Given the description of an element on the screen output the (x, y) to click on. 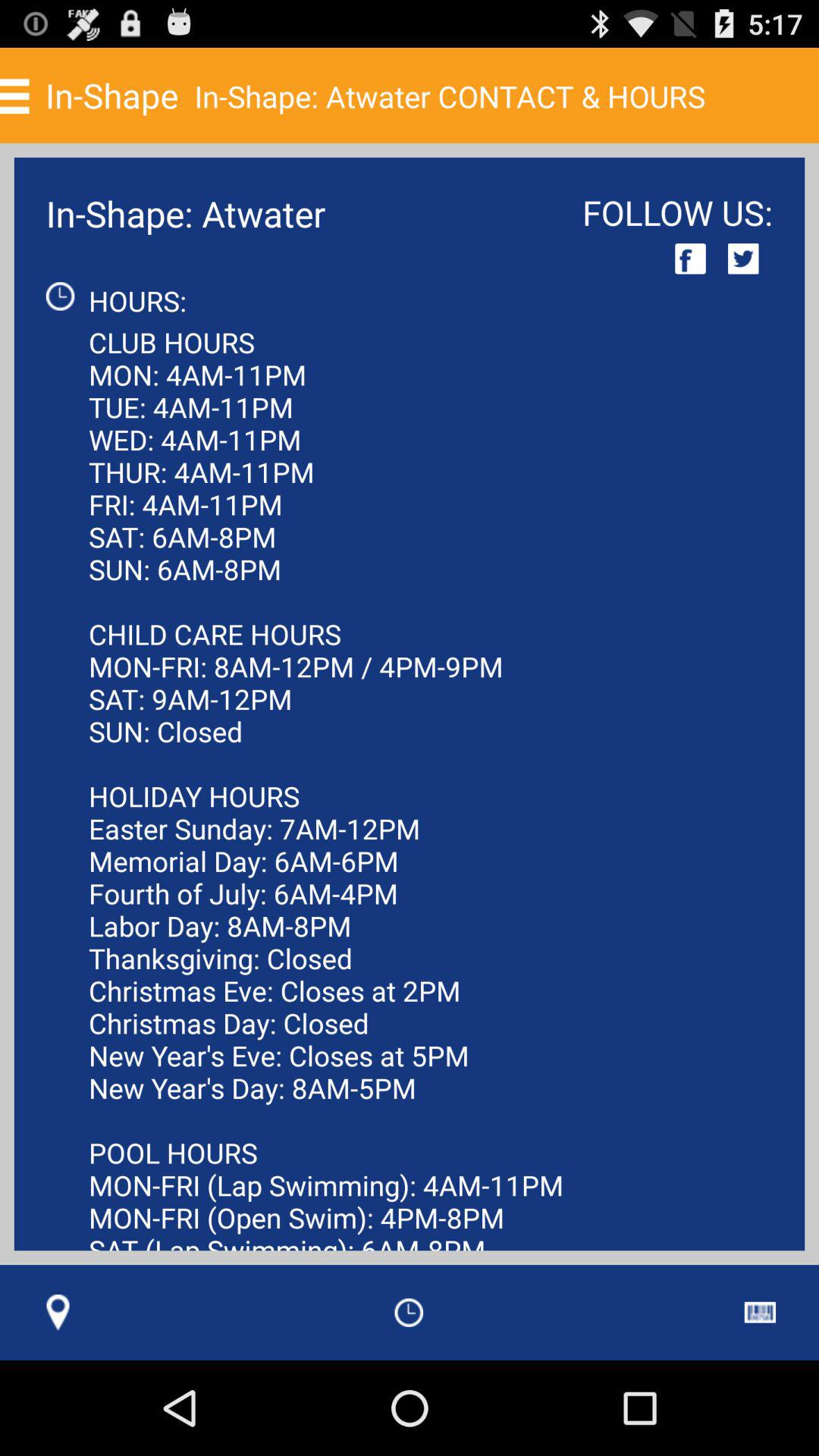
turn off the icon at the bottom right corner (759, 1312)
